Given the description of an element on the screen output the (x, y) to click on. 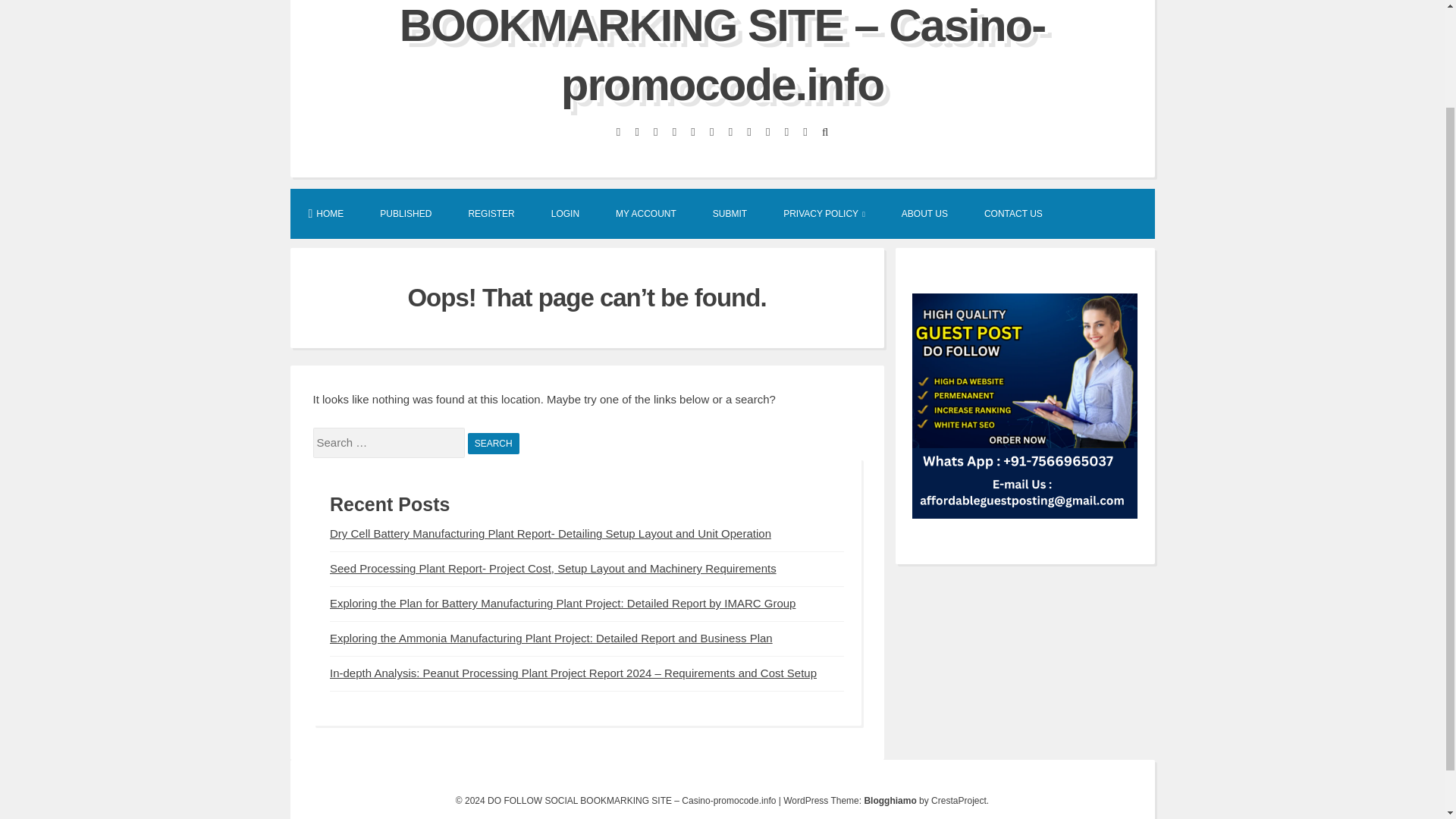
CONTACT US (1013, 213)
Search (493, 443)
ABOUT US (924, 213)
Search (493, 443)
SUBMIT (729, 213)
Search (493, 443)
Blogghiamo (889, 800)
HOME (325, 213)
REGISTER (490, 213)
